Given the description of an element on the screen output the (x, y) to click on. 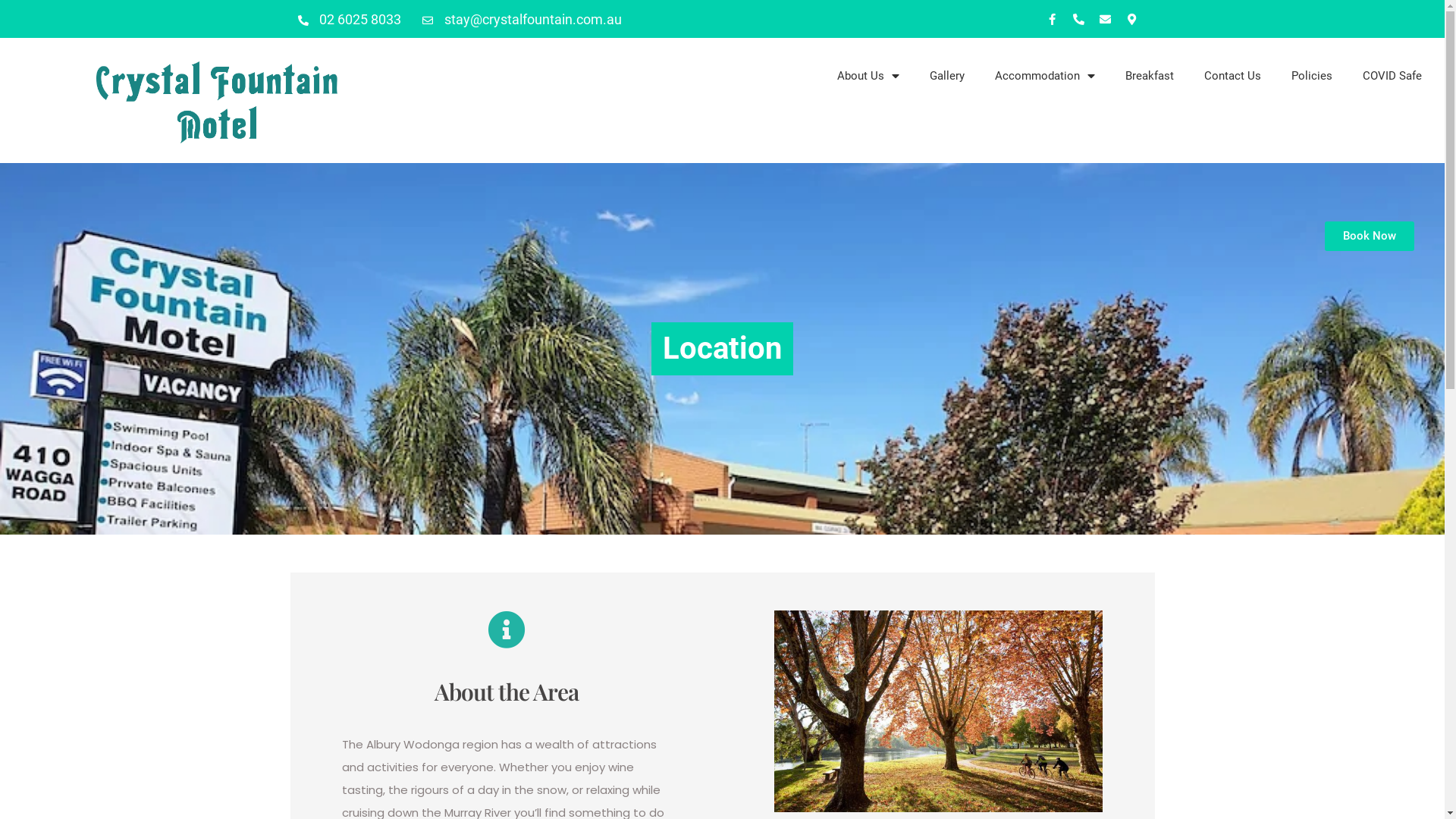
About Us Element type: text (868, 75)
COVID Safe Element type: text (1392, 75)
Accommodation Element type: text (1044, 75)
stay@crystalfountain.com.au Element type: text (521, 19)
Gallery Element type: text (946, 75)
Contact Us Element type: text (1232, 75)
Breakfast Element type: text (1149, 75)
Book Now Element type: text (1369, 236)
Policies Element type: text (1311, 75)
02 6025 8033 Element type: text (349, 19)
